Given the description of an element on the screen output the (x, y) to click on. 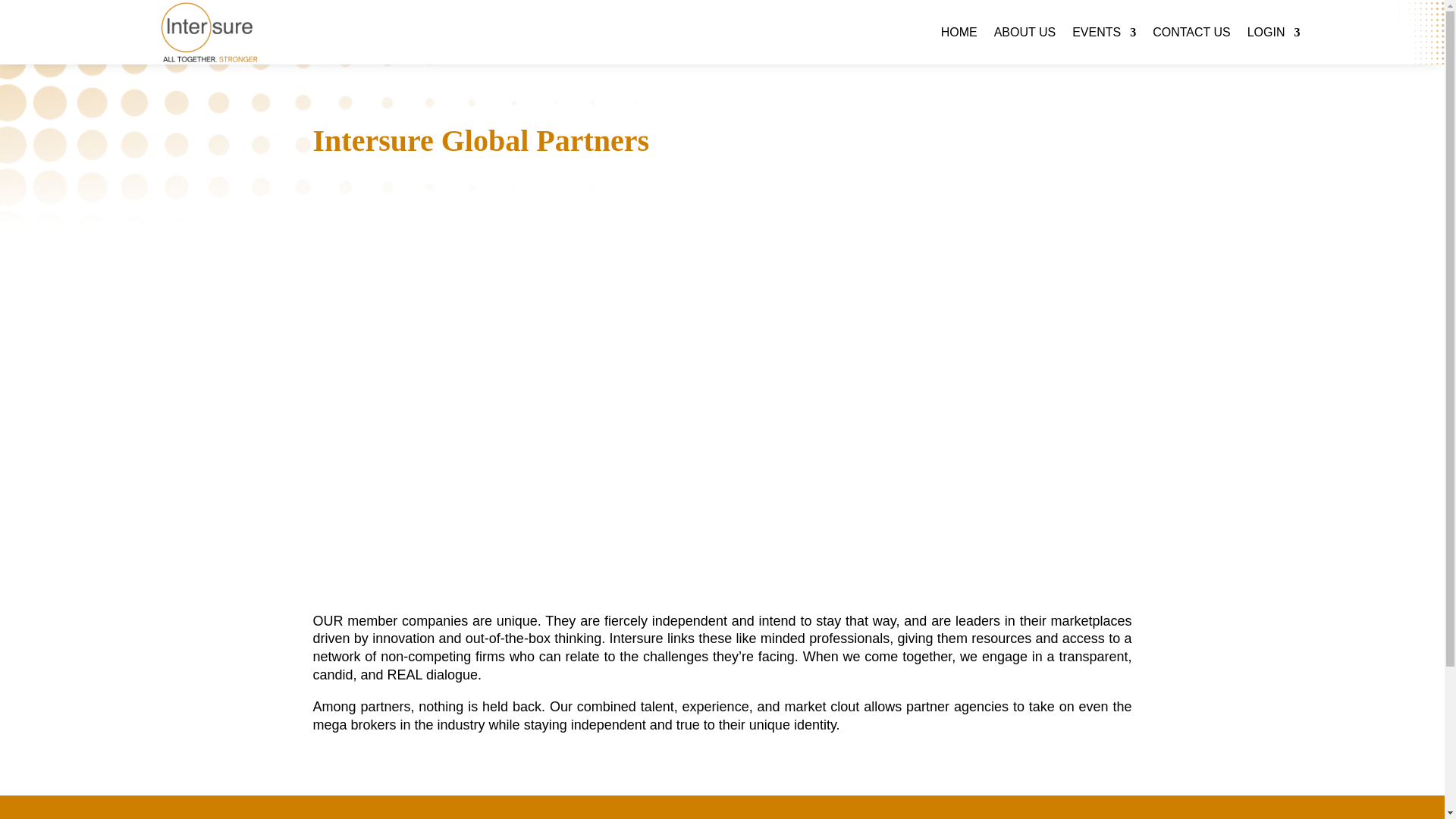
EVENTS (1103, 32)
ABOUT US (1025, 32)
CONTACT US (1191, 32)
